Given the description of an element on the screen output the (x, y) to click on. 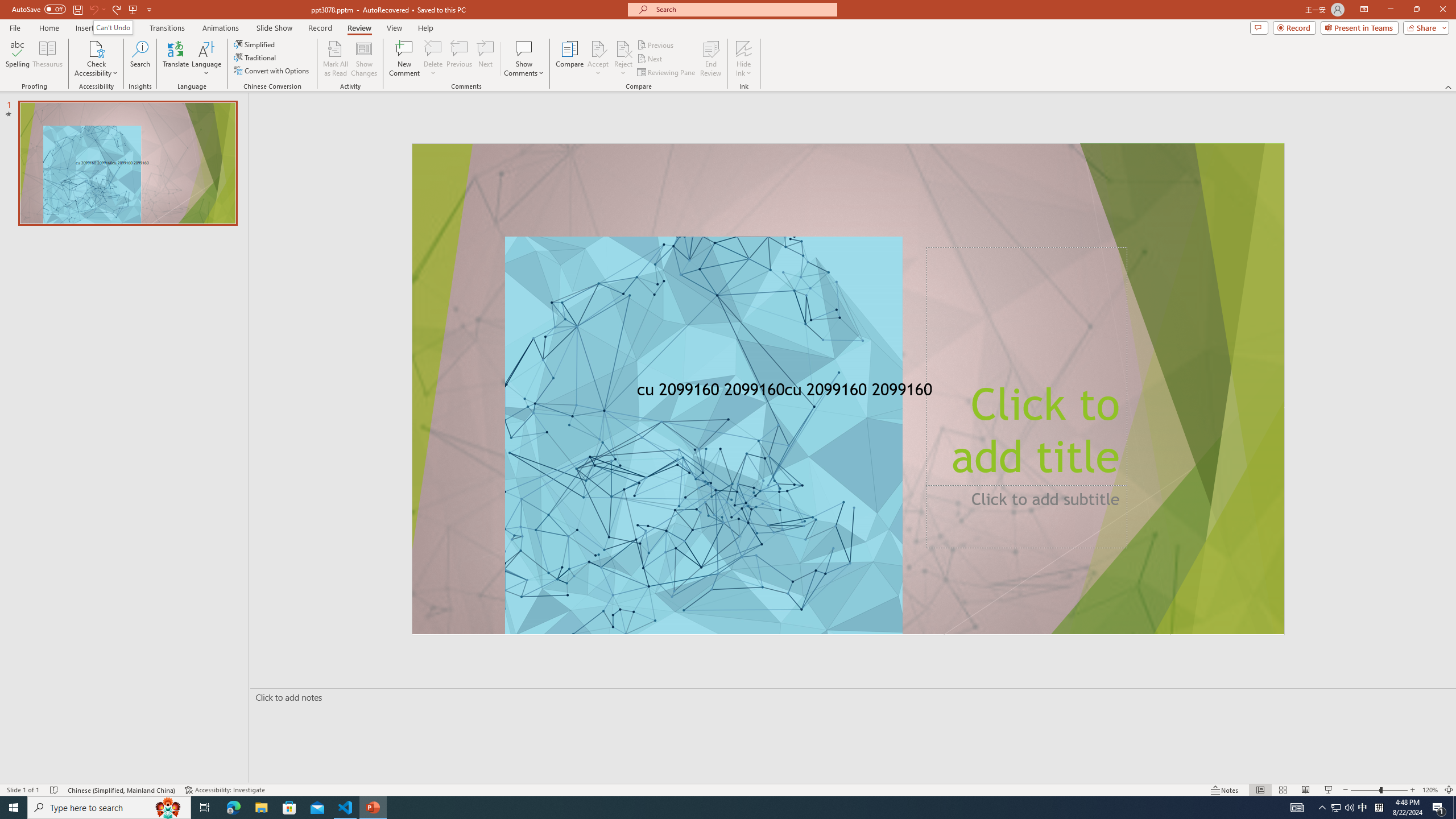
Zoom 120% (1430, 790)
Mark All as Read (335, 58)
Reject Change (622, 48)
Next (649, 58)
Simplified (254, 44)
